Given the description of an element on the screen output the (x, y) to click on. 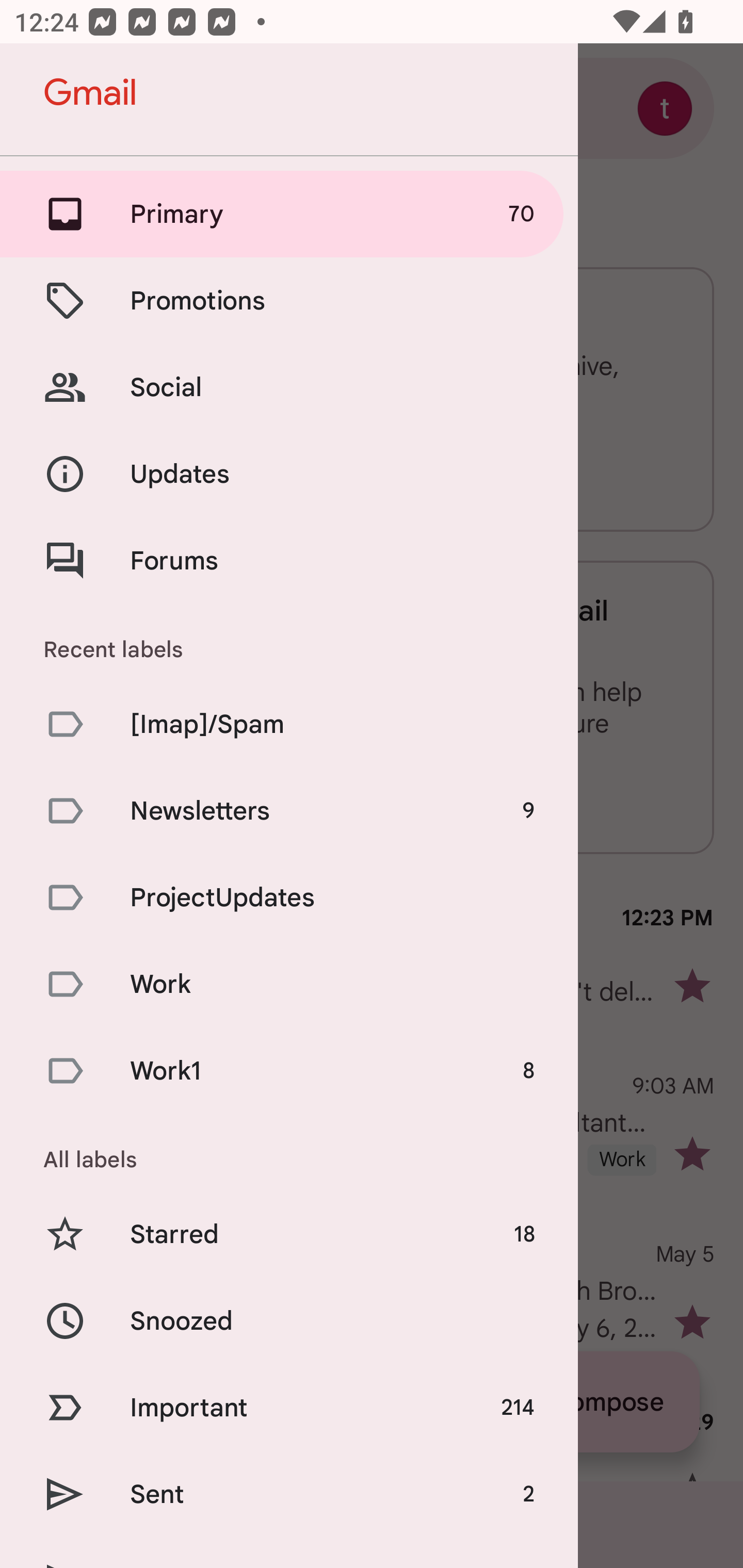
Primary 70 (289, 213)
Promotions (289, 300)
Social (289, 387)
Updates (289, 474)
Forums (289, 560)
[Imap]/Spam (289, 723)
Newsletters 9 (289, 810)
ProjectUpdates (289, 897)
Work (289, 983)
Work1 8 (289, 1070)
Starred 18 (289, 1234)
Snoozed (289, 1320)
Important 214 (289, 1407)
Sent 2 (289, 1494)
